Given the description of an element on the screen output the (x, y) to click on. 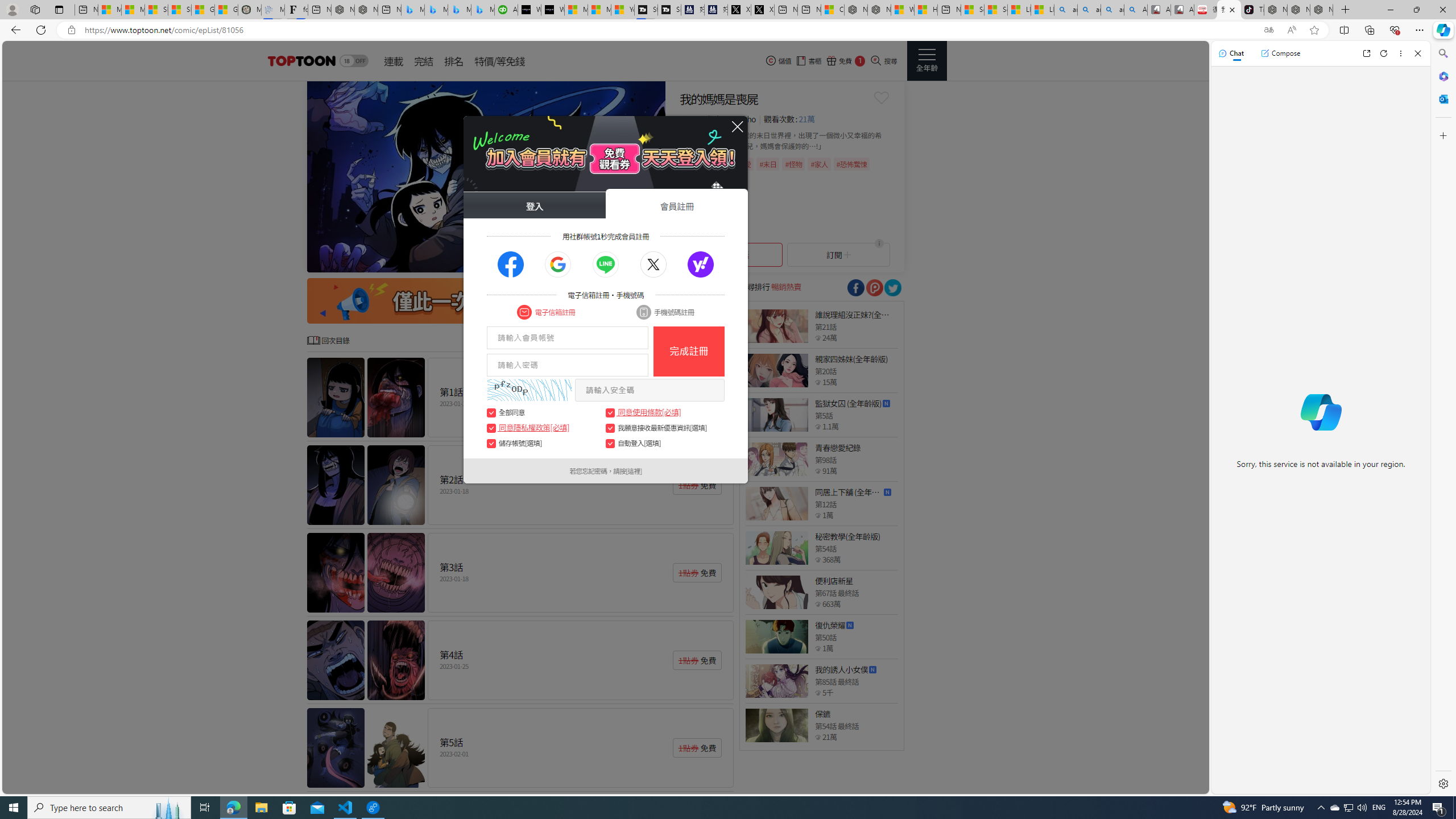
Go to slide 1 (569, 261)
Compose (1280, 52)
Class: swiper-slide (486, 176)
Class: swiper-slide swiper-slide-duplicate swiper-slide-next (486, 176)
